Given the description of an element on the screen output the (x, y) to click on. 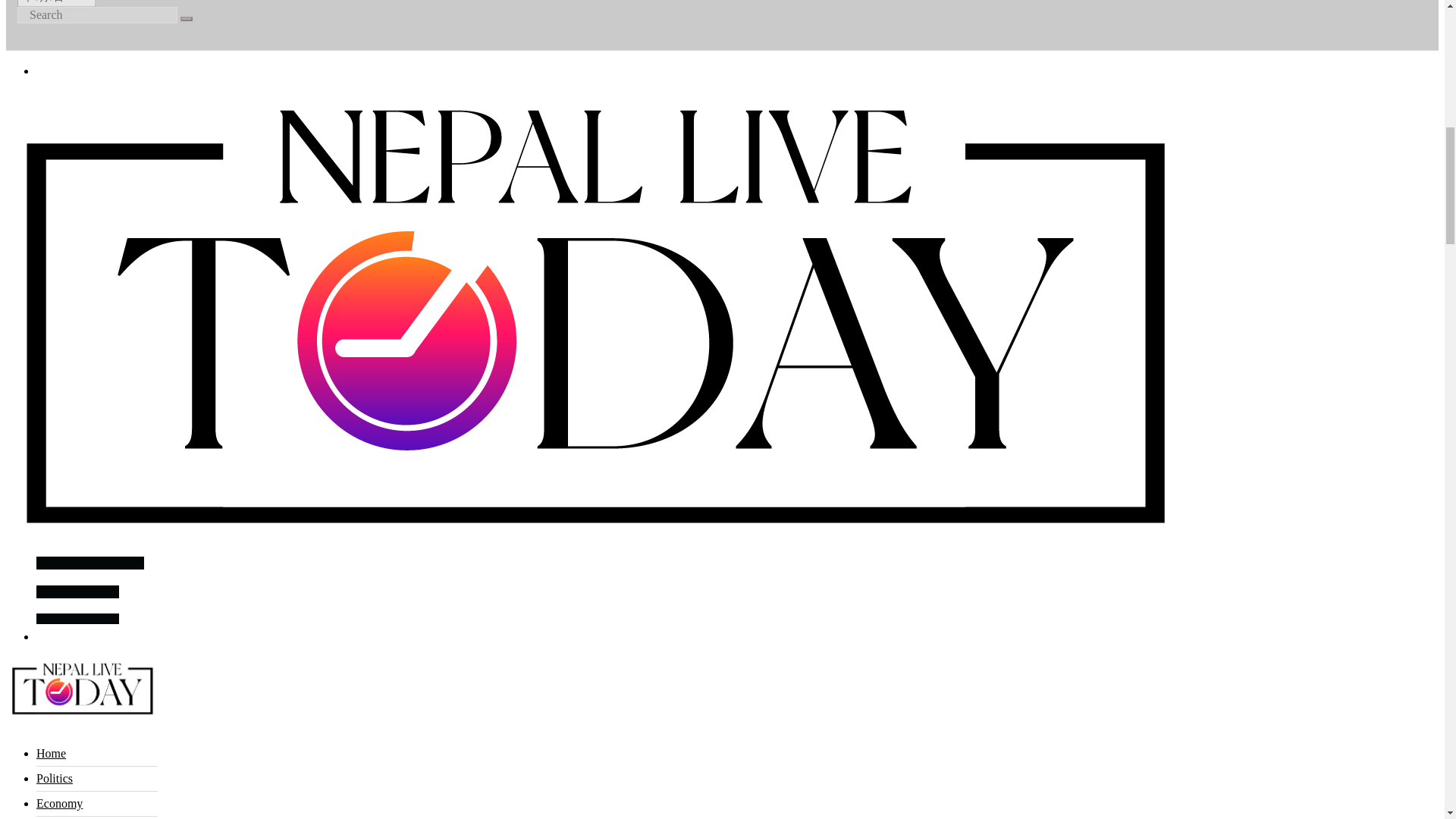
Home (50, 753)
Politics (54, 778)
Economy (59, 802)
